Given the description of an element on the screen output the (x, y) to click on. 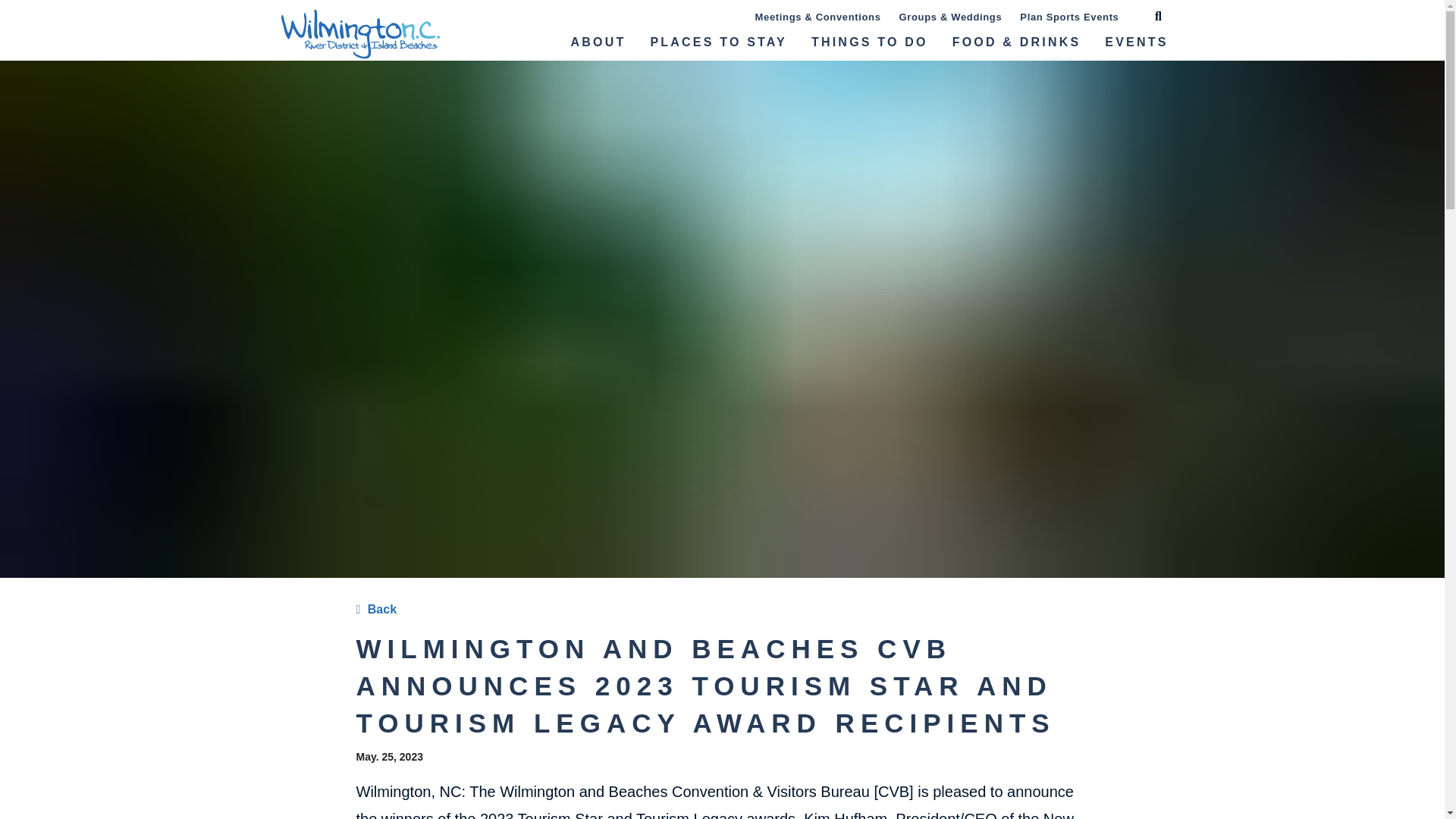
THINGS TO DO (869, 45)
PLACES TO STAY (718, 45)
Plan Sports Events (1068, 15)
ABOUT (599, 45)
EVENTS (1133, 45)
